Given the description of an element on the screen output the (x, y) to click on. 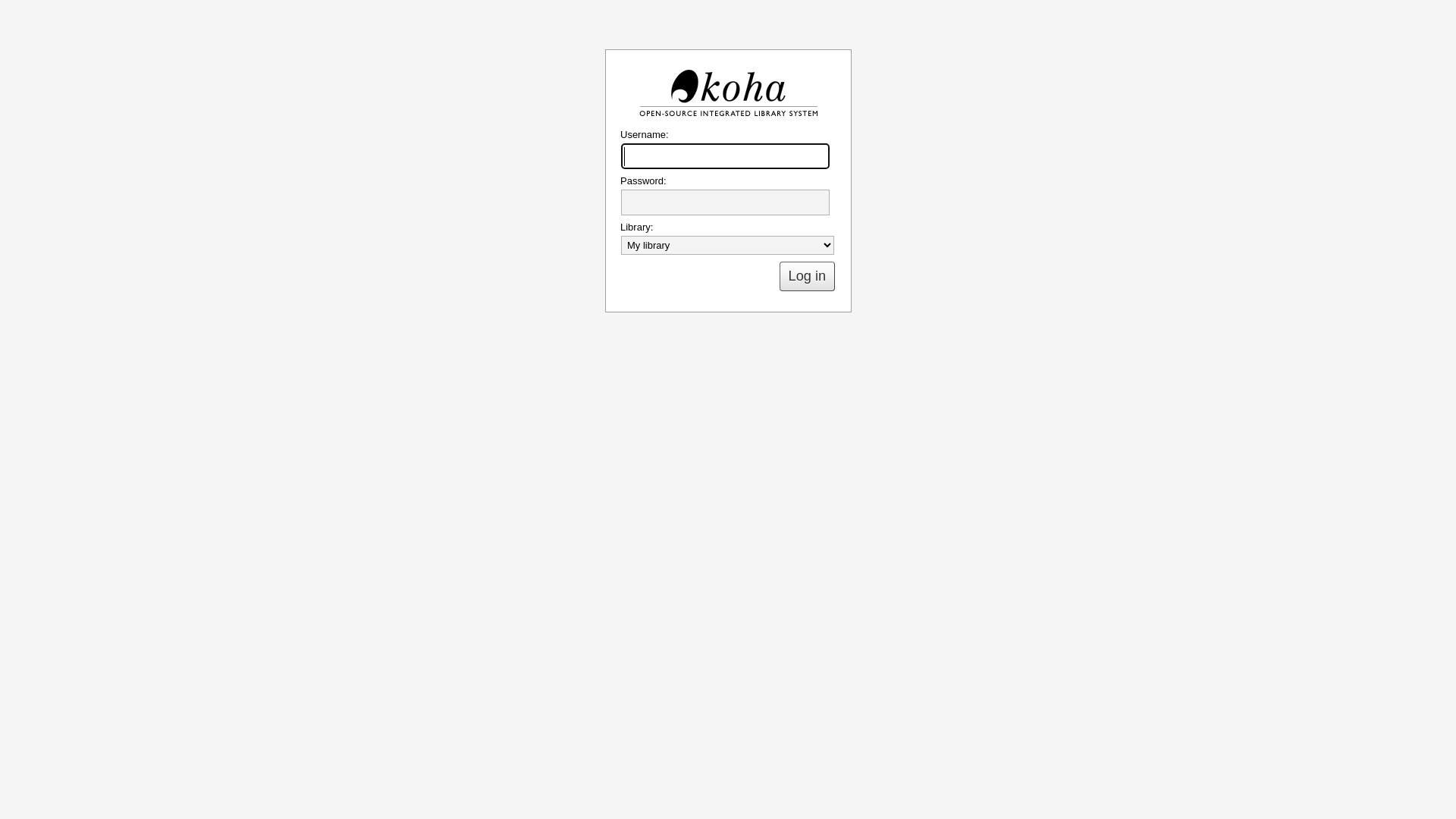
Koha Element type: text (727, 93)
Log in Element type: text (806, 276)
